Given the description of an element on the screen output the (x, y) to click on. 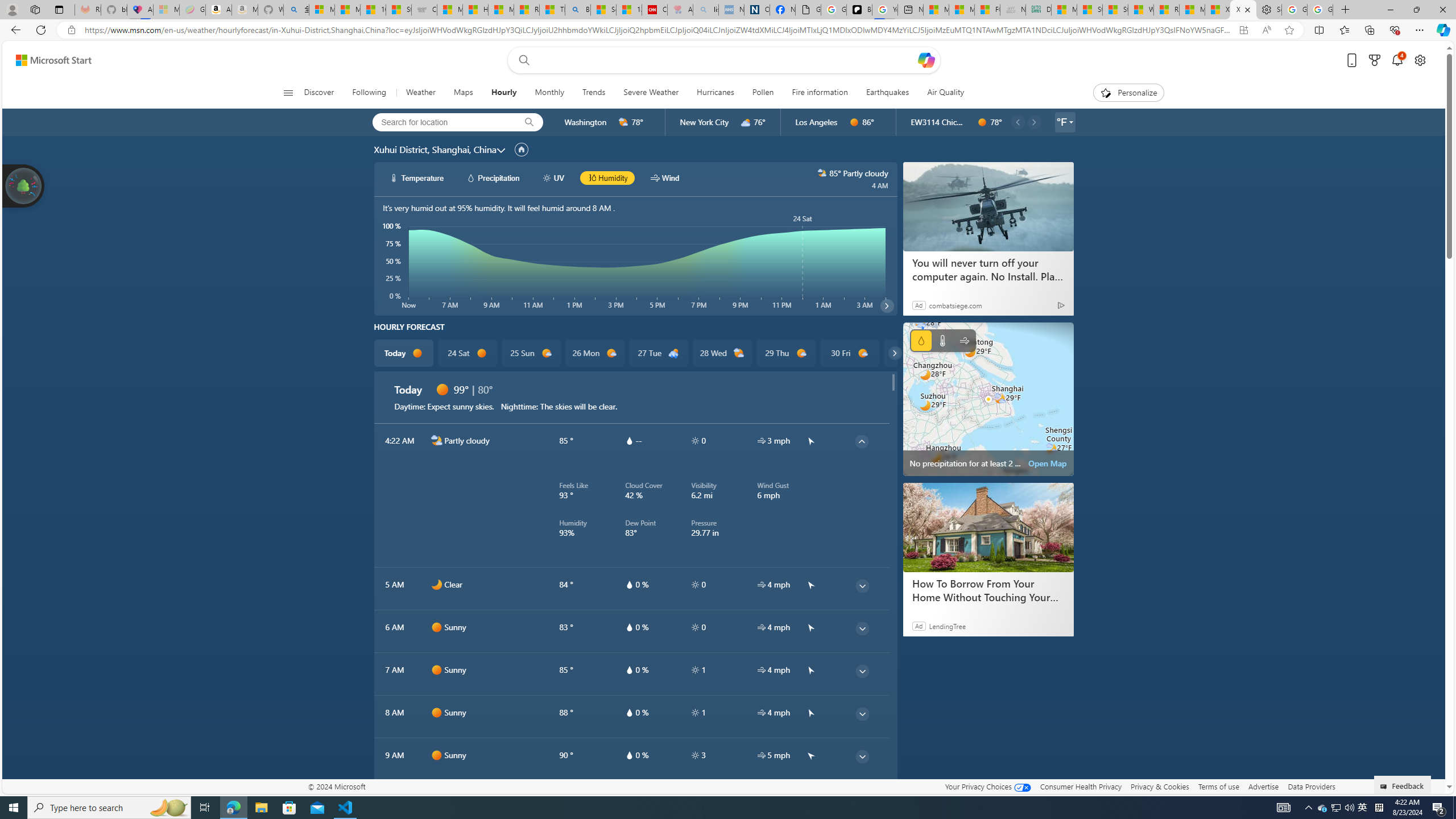
Maps (462, 92)
No precipitation for at least 2 hours (988, 398)
locationName/setHomeLocation (520, 149)
Data Providers (1311, 786)
common/thinArrow (861, 798)
